Given the description of an element on the screen output the (x, y) to click on. 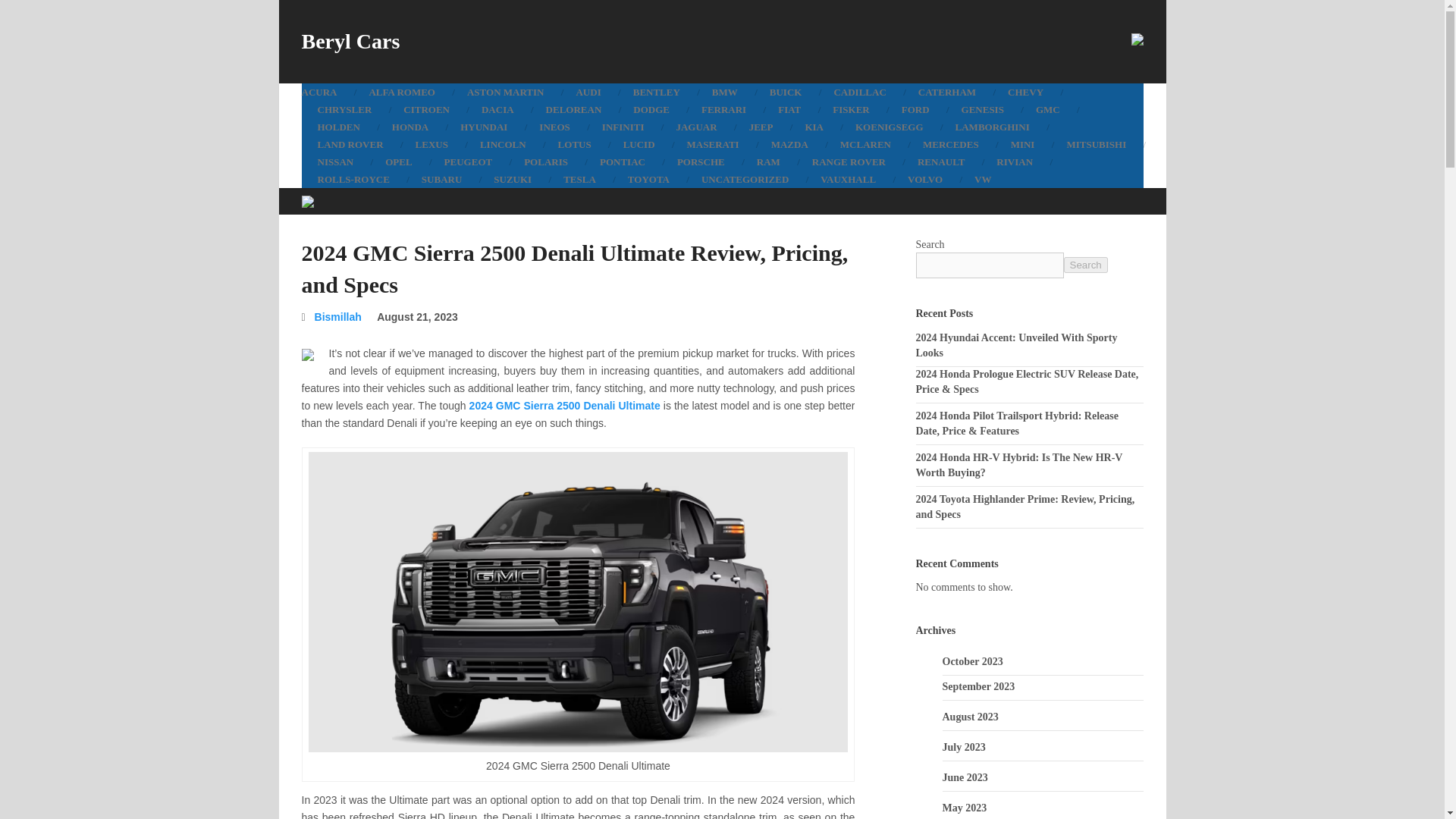
Posts by Bismillah (337, 316)
JAGUAR (695, 126)
MASERATI (713, 144)
CITROEN (426, 108)
DODGE (651, 108)
LOTUS (574, 144)
INEOS (553, 126)
JEEP (761, 126)
INFINITI (623, 126)
ACURA (327, 91)
